Given the description of an element on the screen output the (x, y) to click on. 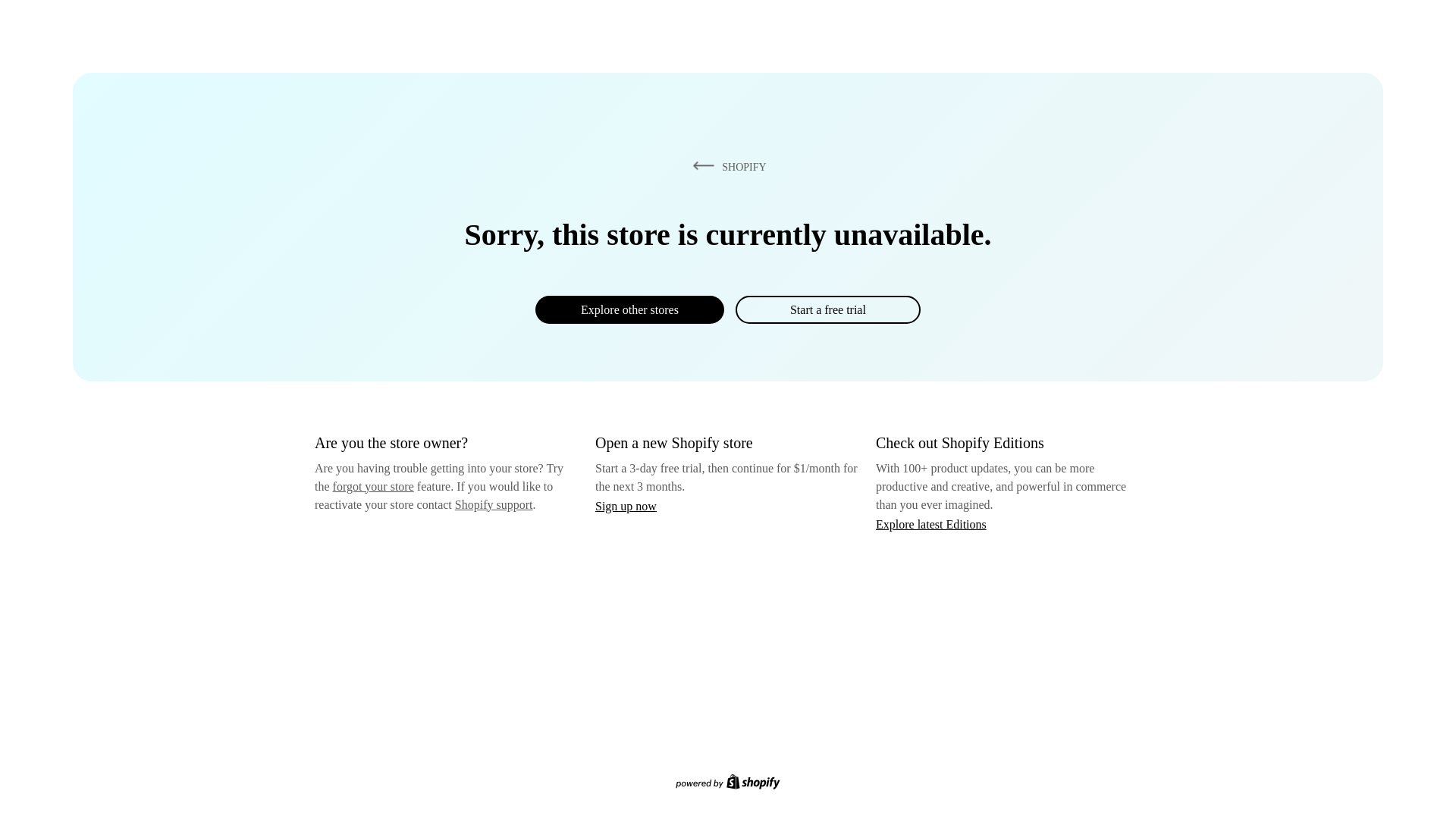
forgot your store (373, 486)
Shopify support (493, 504)
Explore latest Editions (931, 523)
Explore other stores (629, 309)
Sign up now (625, 505)
SHOPIFY (726, 166)
Start a free trial (827, 309)
